Given the description of an element on the screen output the (x, y) to click on. 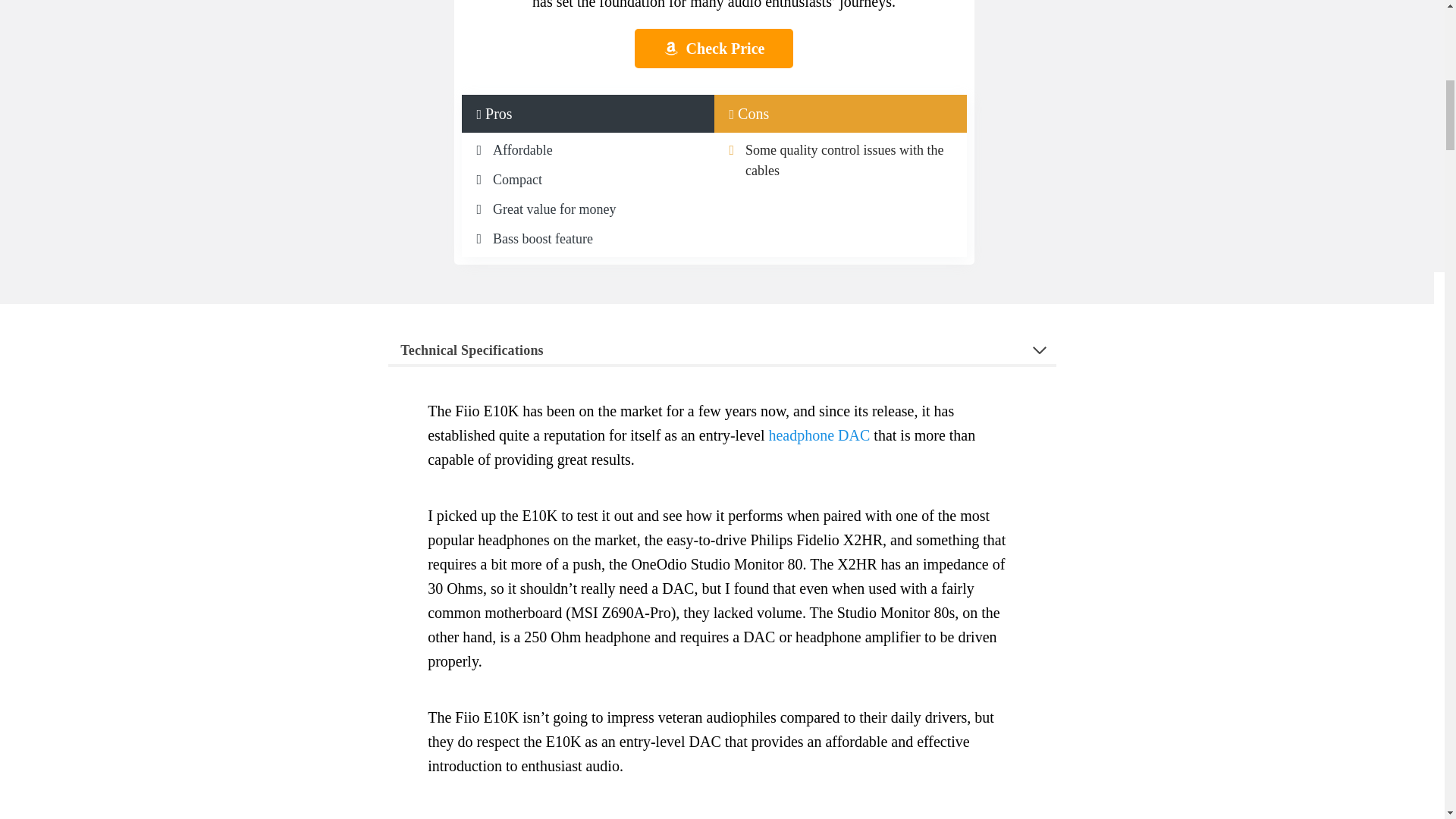
headphone DAC (818, 435)
Technical Specifications (722, 348)
Check Price (713, 47)
